Given the description of an element on the screen output the (x, y) to click on. 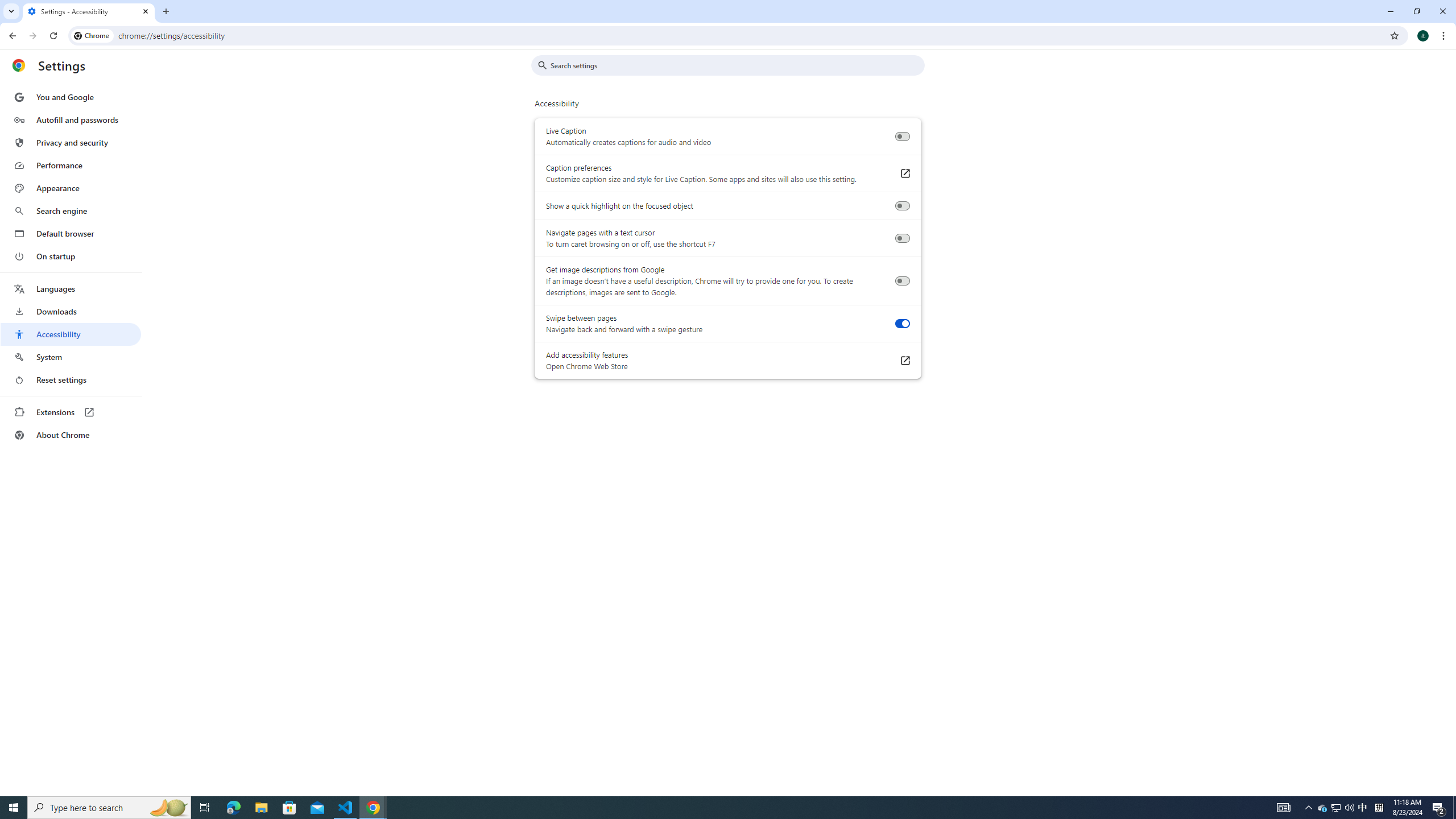
On startup (70, 255)
Live Caption (901, 136)
Performance (70, 164)
Navigate pages with a text cursor (901, 238)
Languages (70, 288)
Show a quick highlight on the focused object (901, 206)
Search settings (735, 65)
AutomationID: menu (71, 265)
Swipe between pages (901, 323)
Add accessibility features Open Chrome Web Store (904, 360)
